Given the description of an element on the screen output the (x, y) to click on. 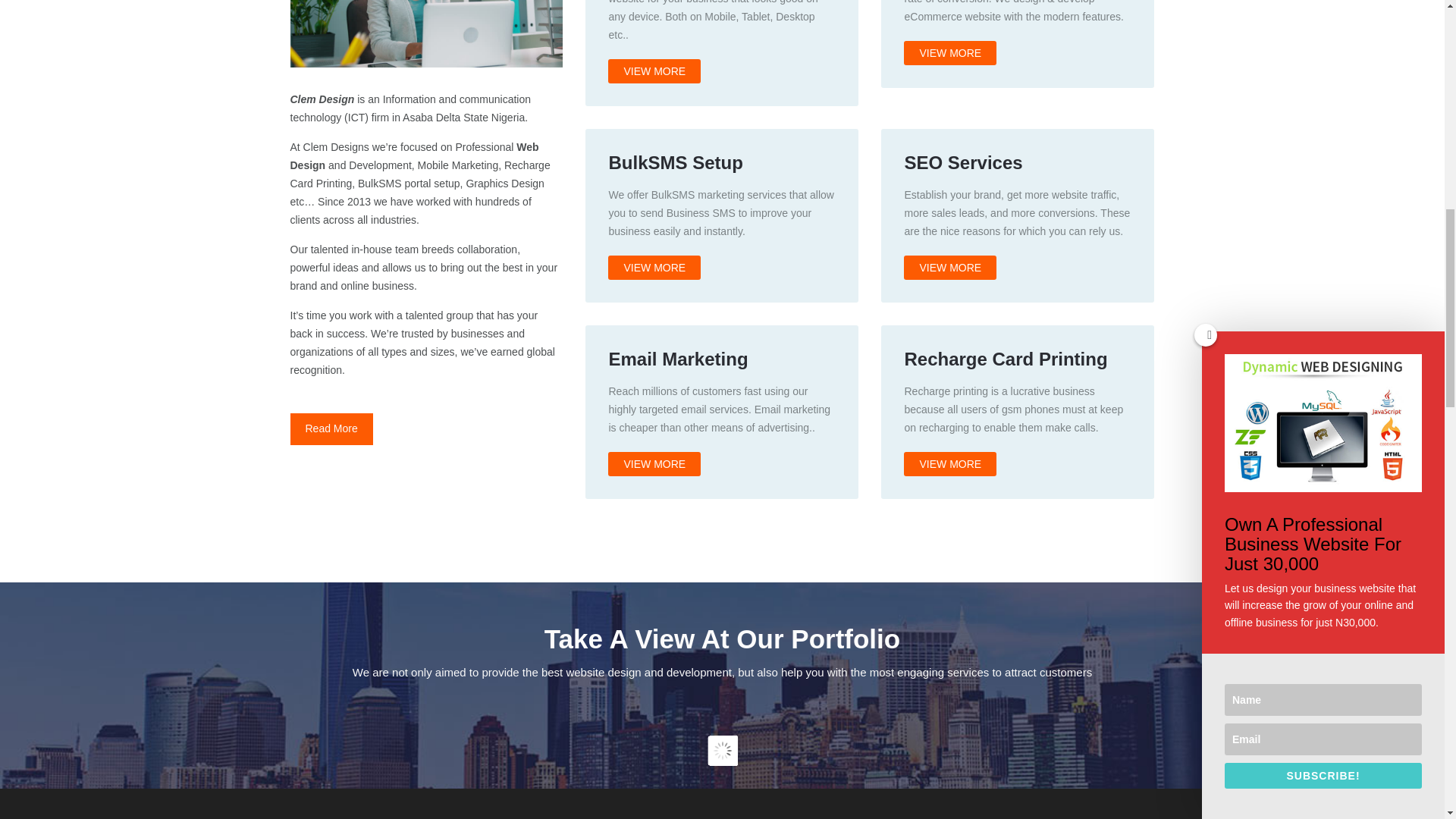
VIEW MORE (1017, 214)
VIEW MORE (721, 58)
Read More (330, 429)
VIEW MORE (1017, 58)
VIEW MORE (721, 411)
VIEW MORE (1017, 411)
VIEW MORE (721, 214)
